Given the description of an element on the screen output the (x, y) to click on. 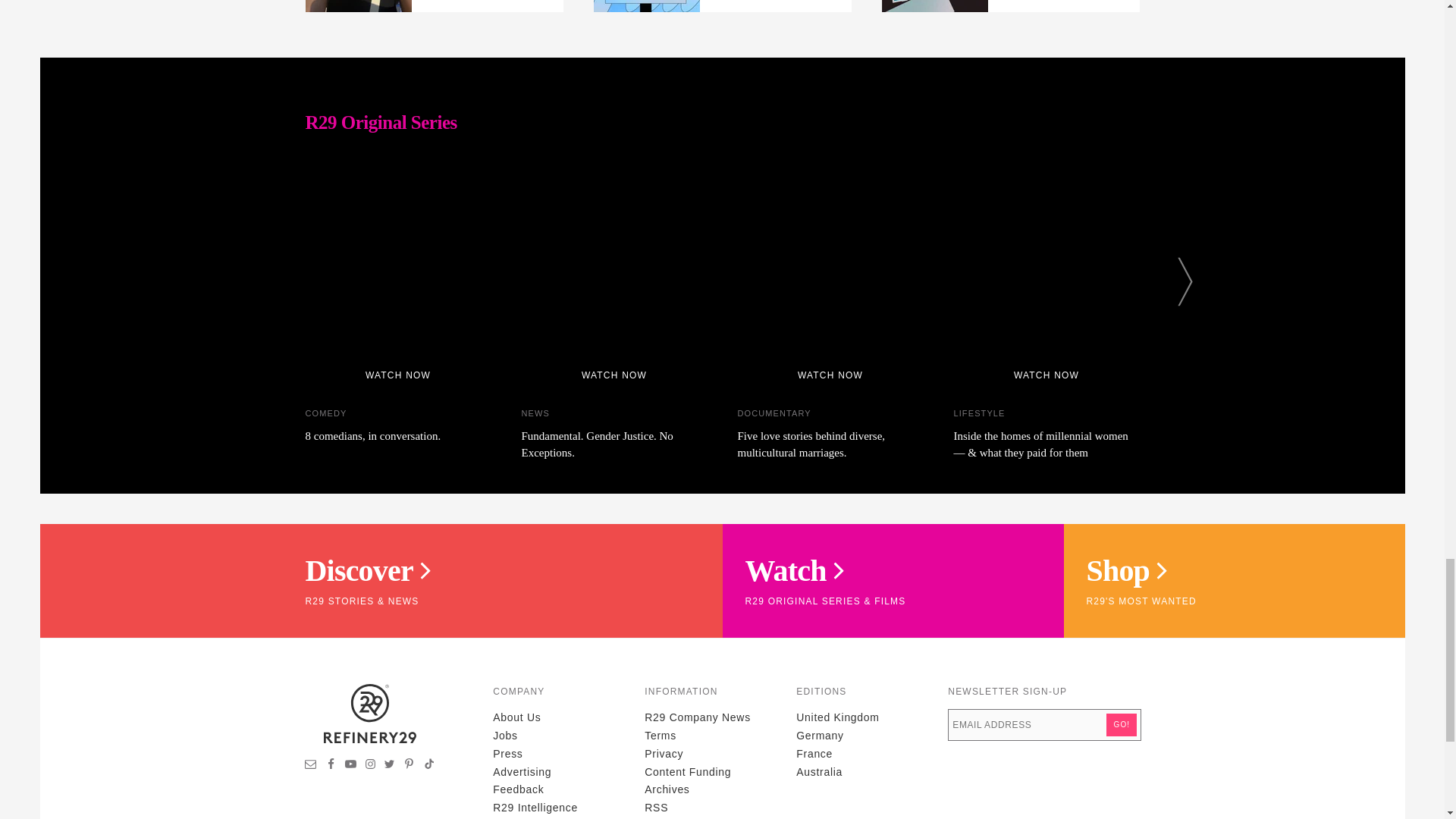
Visit Refinery29 on YouTube (350, 766)
Sign up for newsletters (310, 766)
